Given the description of an element on the screen output the (x, y) to click on. 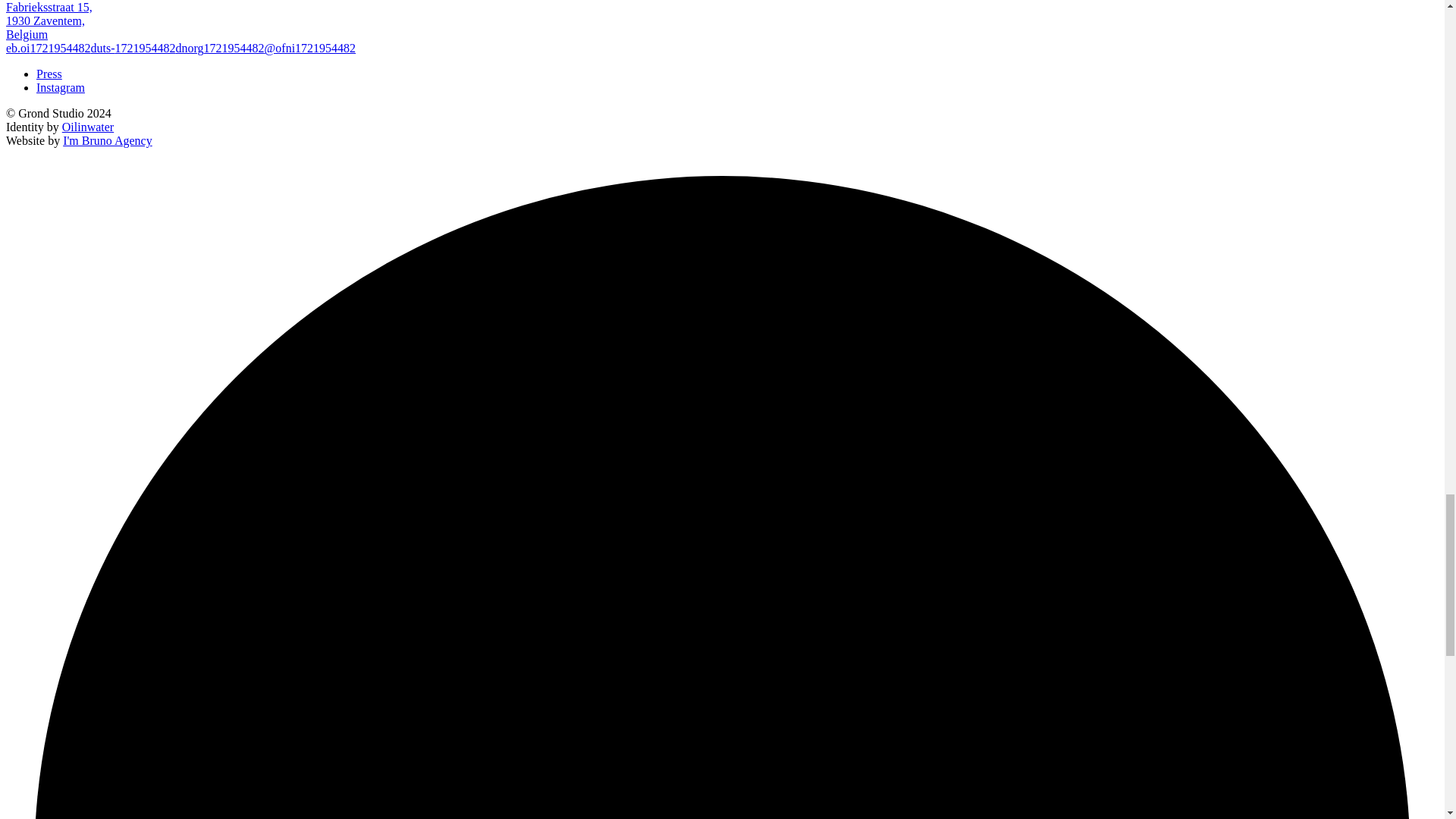
Oilinwater (49, 20)
Instagram (87, 126)
Press (60, 87)
I'm Bruno Agency (49, 73)
